Given the description of an element on the screen output the (x, y) to click on. 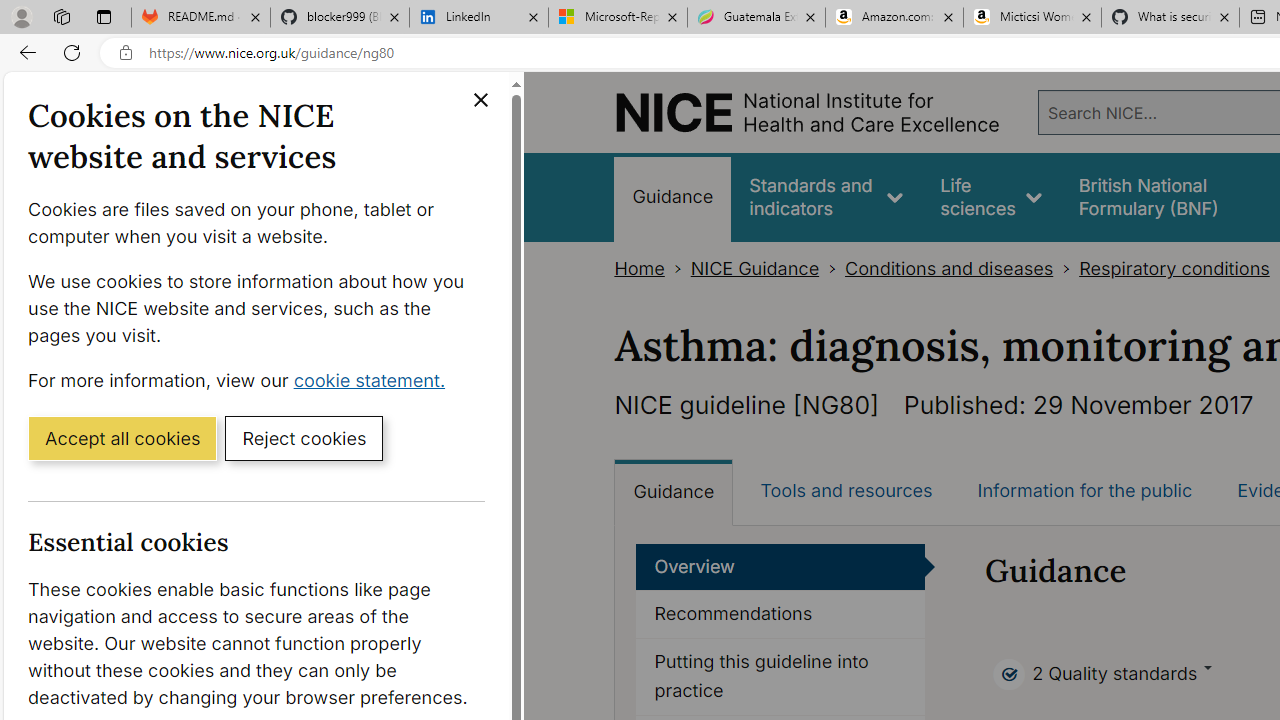
Guidance (673, 491)
Putting this guideline into practice (781, 676)
Conditions and diseases> (962, 268)
Overview (781, 566)
Life sciences (991, 196)
Reject cookies (304, 437)
Close cookie banner (480, 99)
NICE Guidance (754, 268)
Information for the public (1084, 490)
